Given the description of an element on the screen output the (x, y) to click on. 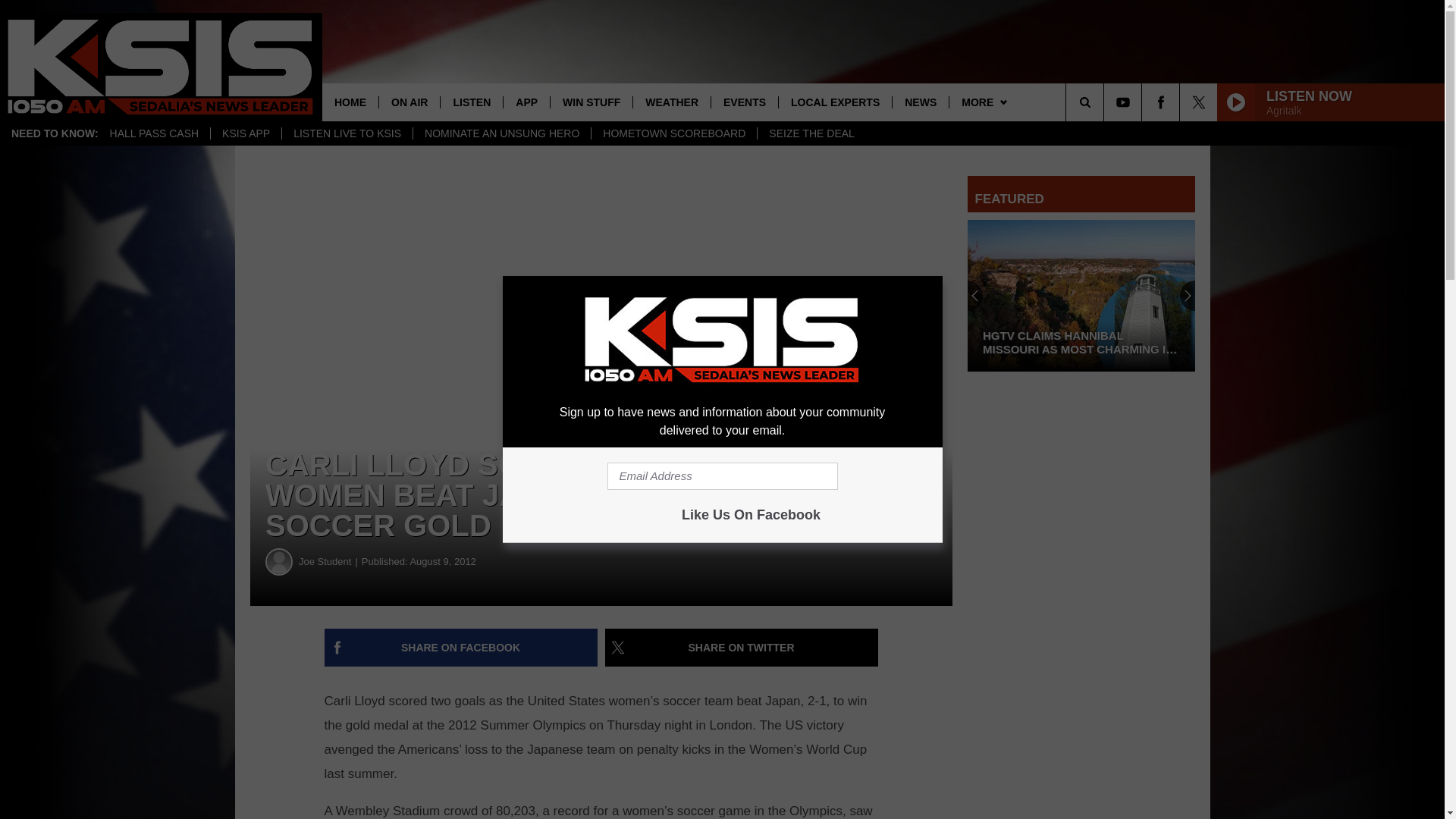
LOCAL EXPERTS (834, 102)
EVENTS (743, 102)
WIN STUFF (590, 102)
ON AIR (408, 102)
Share on Twitter (741, 647)
Share on Facebook (460, 647)
KSIS APP (245, 133)
HALL PASS CASH (155, 133)
LISTEN (470, 102)
SEARCH (1106, 102)
NEWS (920, 102)
NOMINATE AN UNSUNG HERO (501, 133)
HOMETOWN SCOREBOARD (674, 133)
HOME (349, 102)
APP (526, 102)
